Given the description of an element on the screen output the (x, y) to click on. 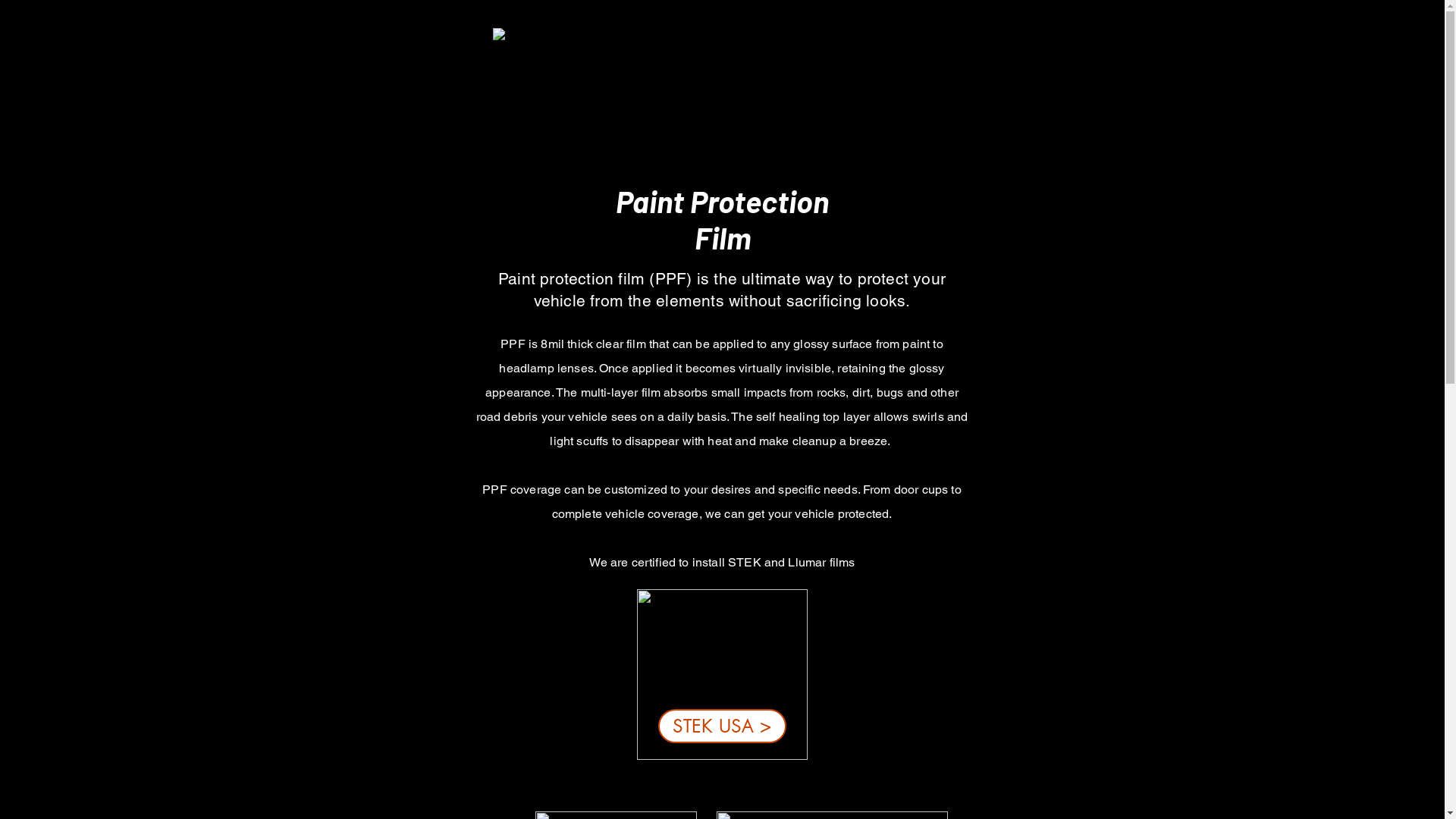
stek.png Element type: hover (722, 674)
STEK USA > Element type: text (722, 726)
